Given the description of an element on the screen output the (x, y) to click on. 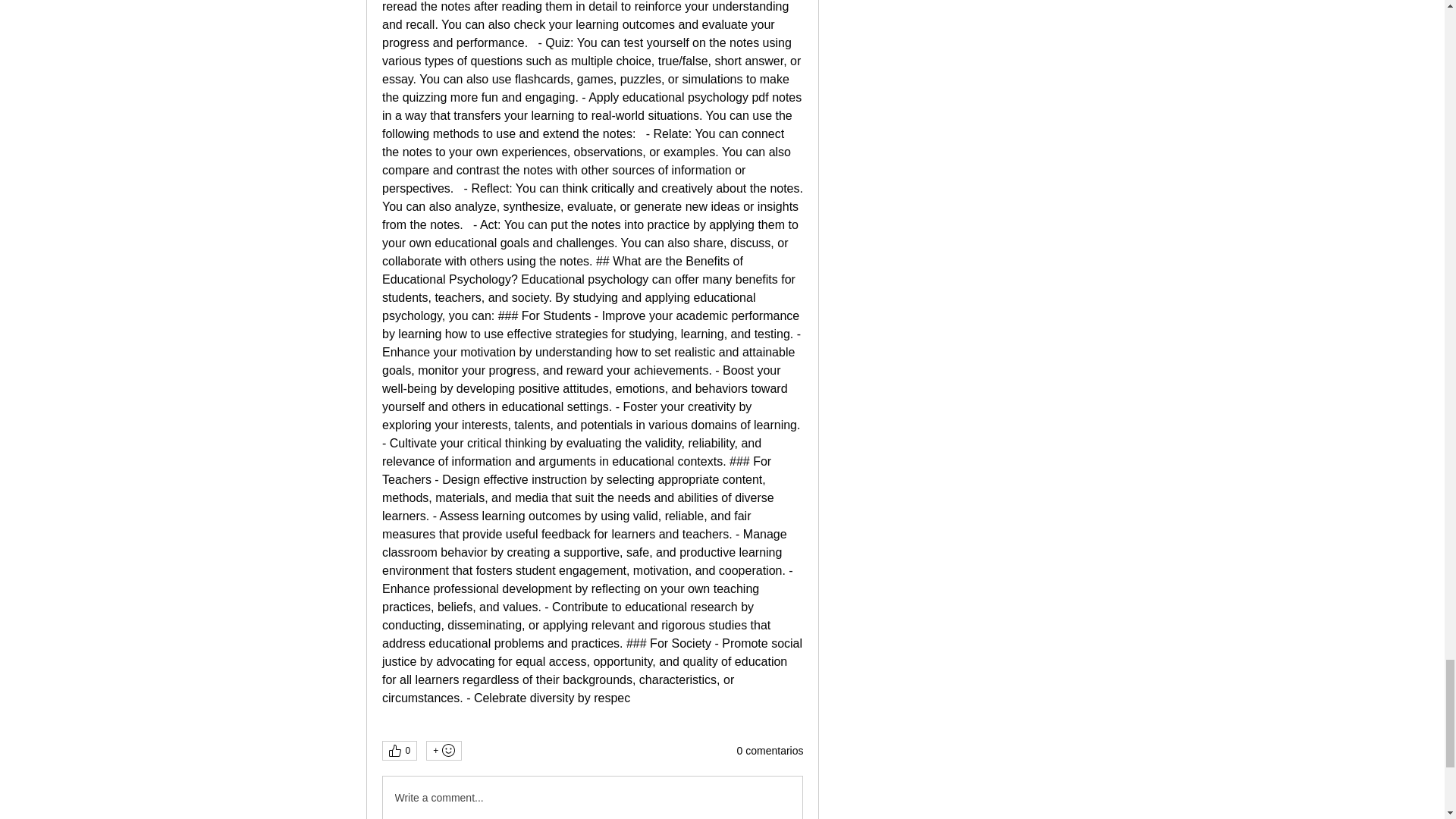
0 comentarios (769, 751)
Write a comment... (591, 797)
